Given the description of an element on the screen output the (x, y) to click on. 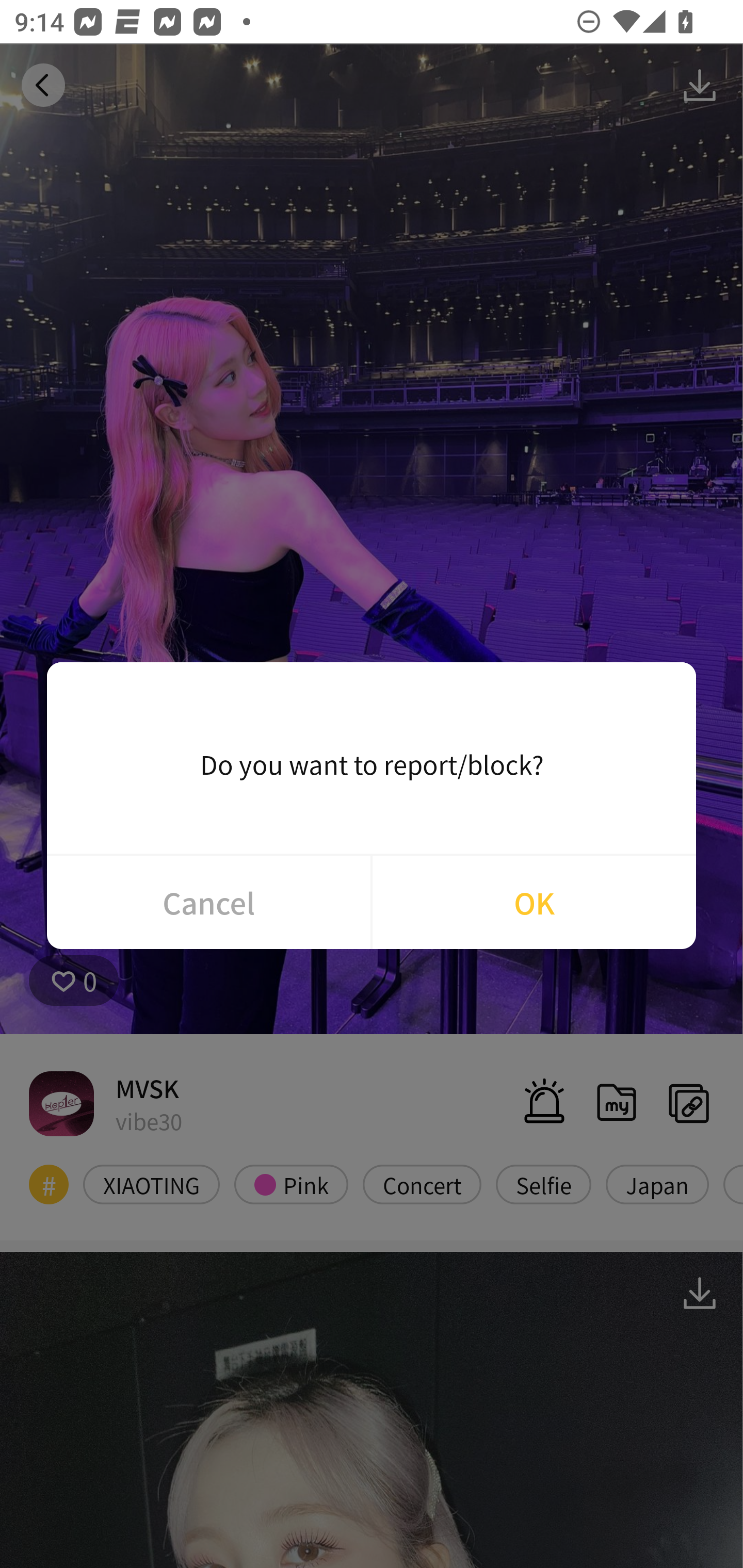
Cancel (208, 902)
OK (534, 902)
